Given the description of an element on the screen output the (x, y) to click on. 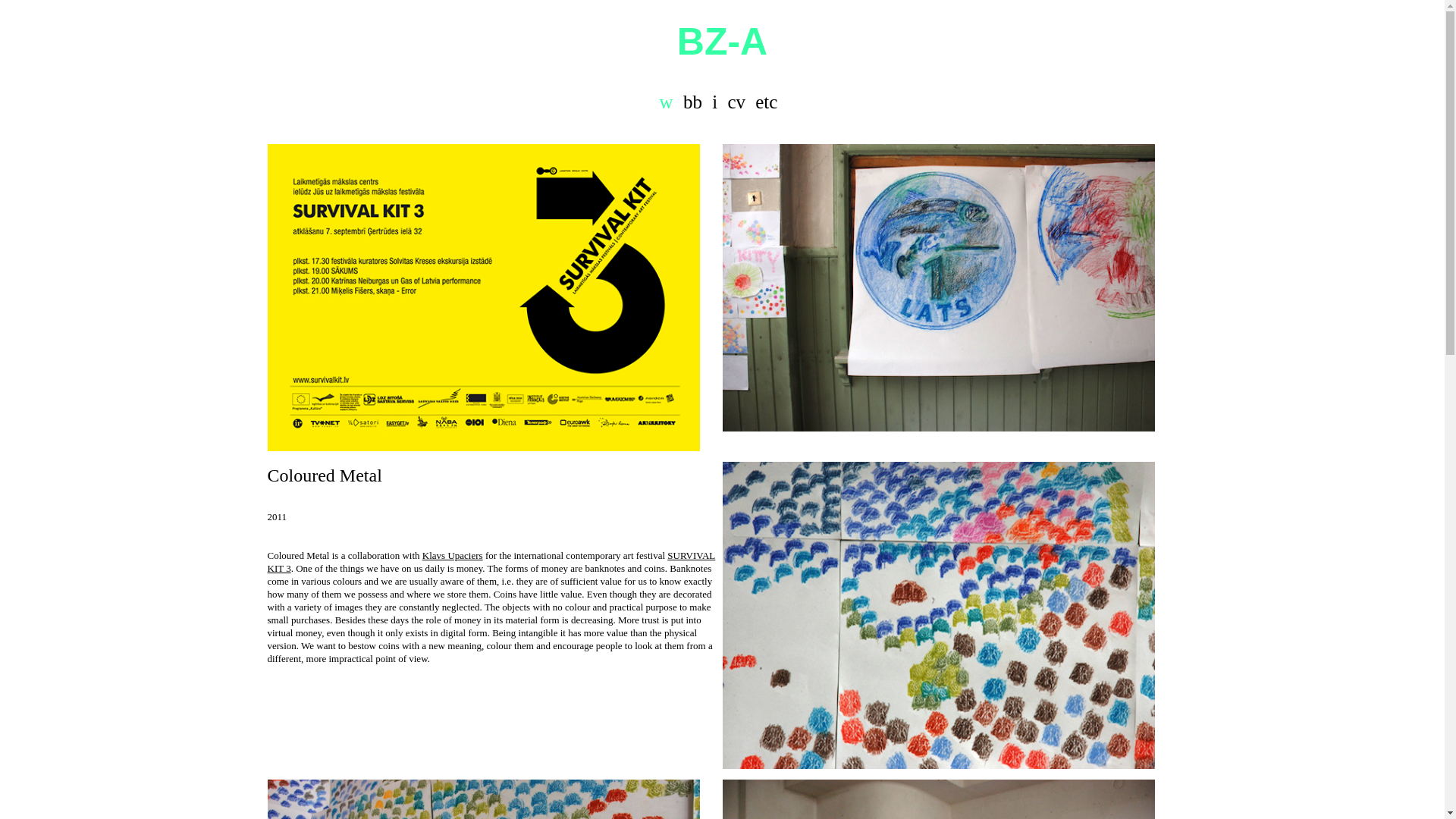
w (665, 102)
bb (691, 102)
Klavs Upaciers (452, 555)
BZ-A (722, 41)
cv (735, 102)
etc (766, 102)
SURVIVAL KIT 3 (490, 561)
i (714, 102)
